Given the description of an element on the screen output the (x, y) to click on. 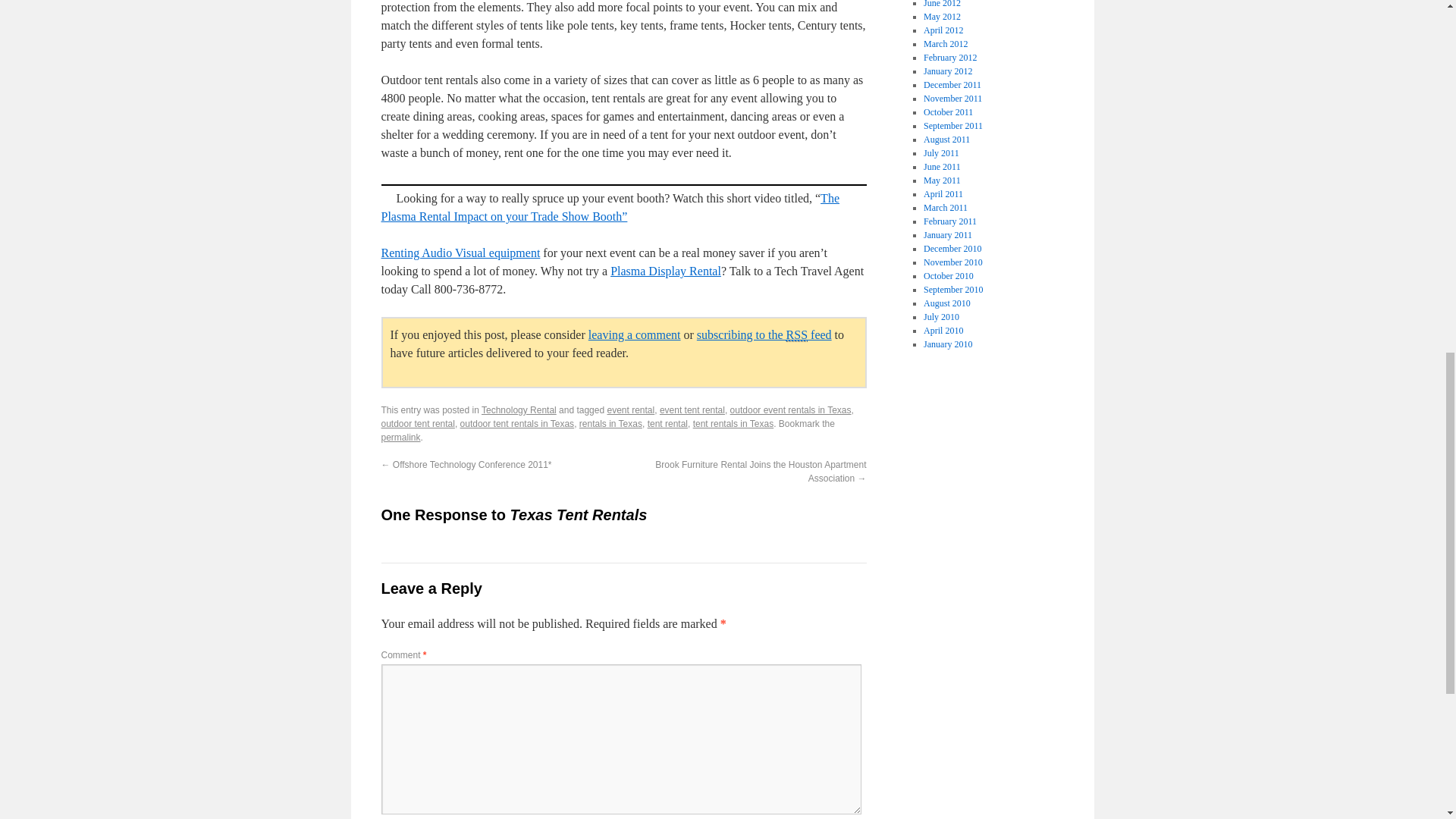
outdoor tent rental (417, 423)
Plasma Display Rental (665, 270)
outdoor event rentals in Texas (790, 409)
subscribing to the RSS feed (764, 335)
leaving a comment (634, 334)
Permalink to Texas Tent Rentals (400, 437)
tent rental (667, 423)
event rental (630, 409)
rentals in Texas (610, 423)
Syndicate this site using RSS (764, 335)
Renting Audio Visual equipment (460, 252)
Really Simple Syndication (797, 335)
permalink (400, 437)
tent rentals in Texas (733, 423)
Technology Rental (518, 409)
